Given the description of an element on the screen output the (x, y) to click on. 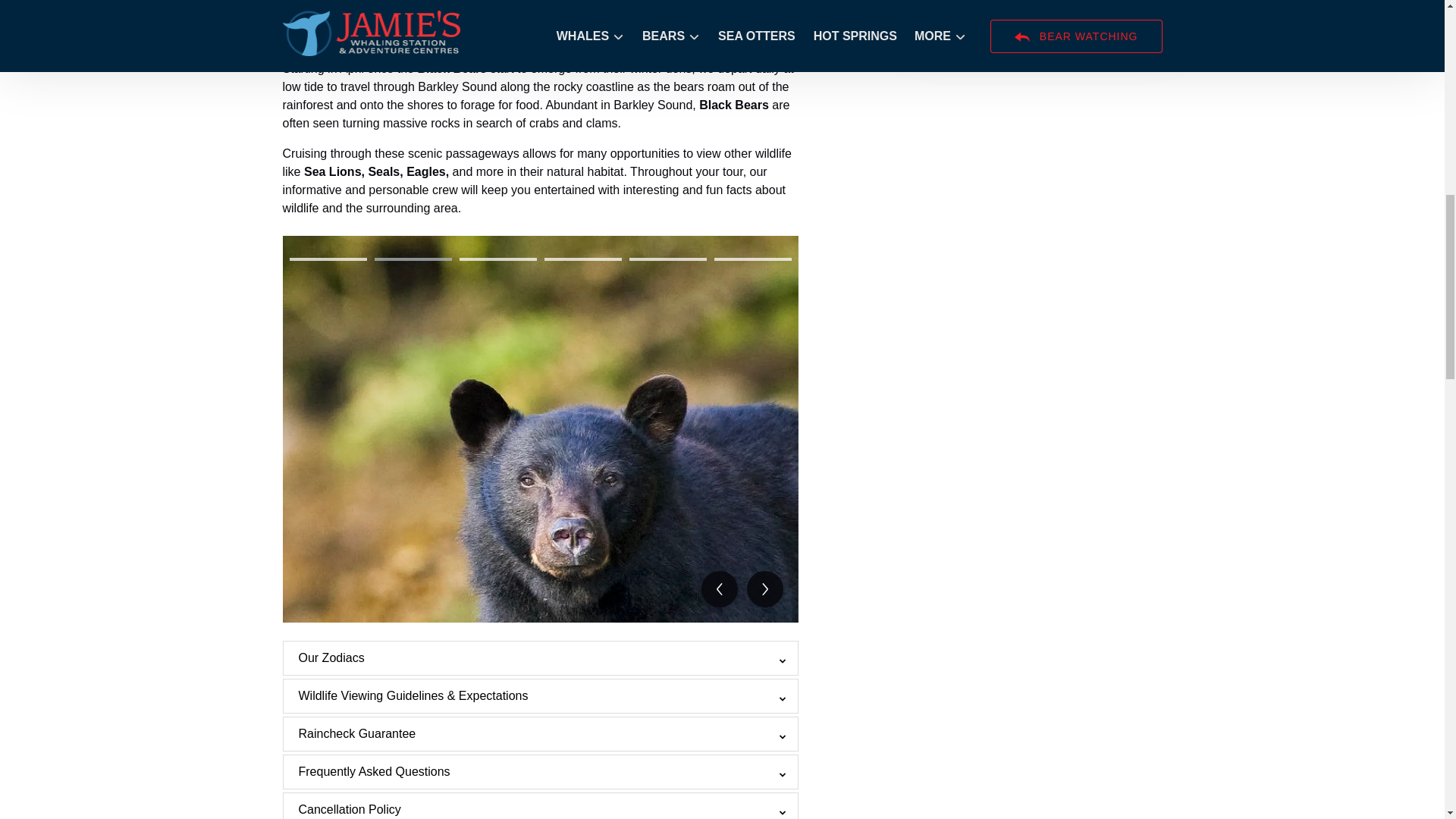
FareHarbor (1342, 64)
Previous (718, 588)
FareHarbor (1040, 20)
